Given the description of an element on the screen output the (x, y) to click on. 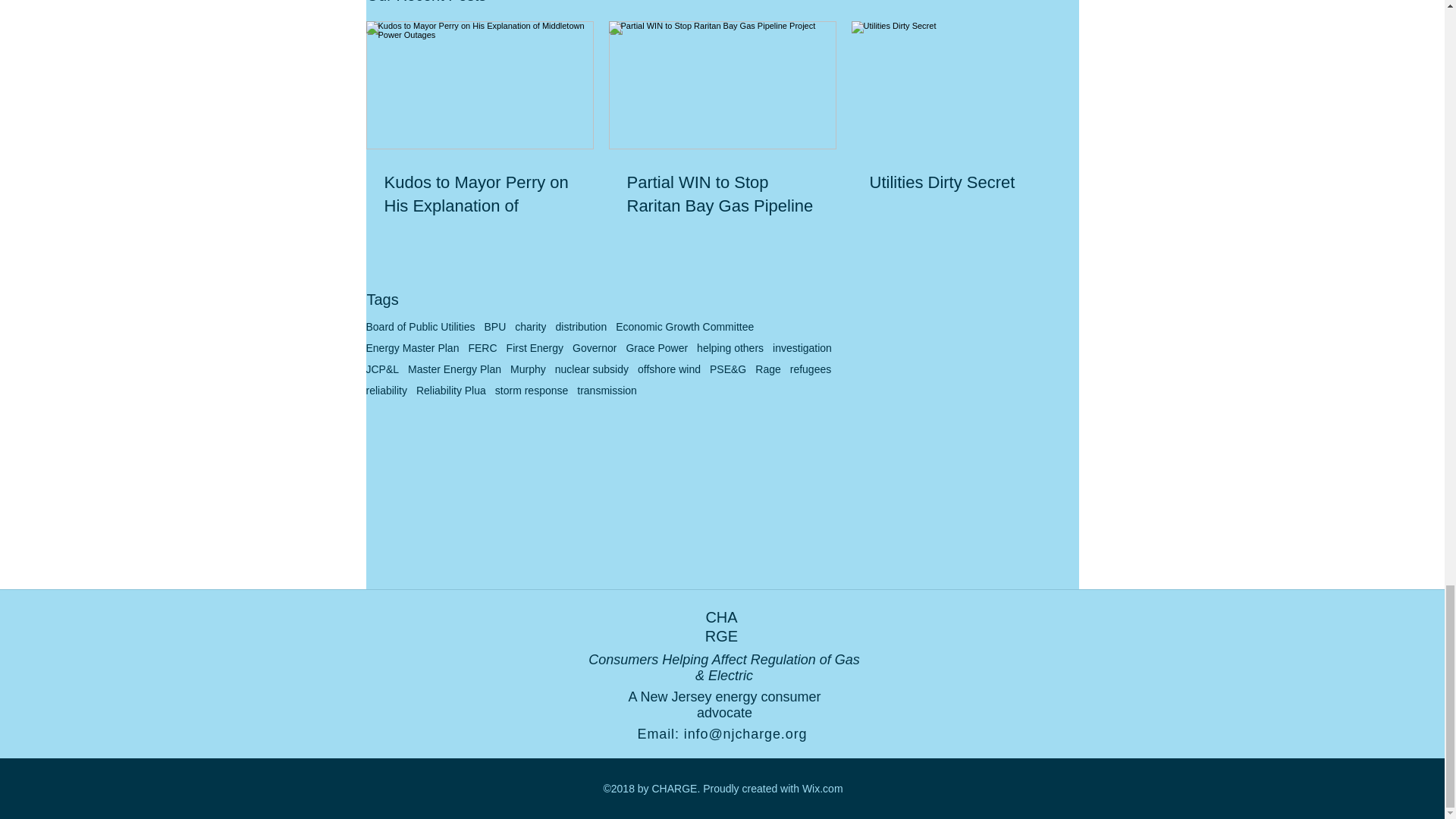
investigation (802, 347)
Energy Master Plan (411, 347)
Rage (767, 369)
Board of Public Utilities (419, 326)
nuclear subsidy (591, 369)
charity (530, 326)
Utilities Dirty Secret (964, 182)
refugees (810, 369)
offshore wind (668, 369)
distribution (580, 326)
